Given the description of an element on the screen output the (x, y) to click on. 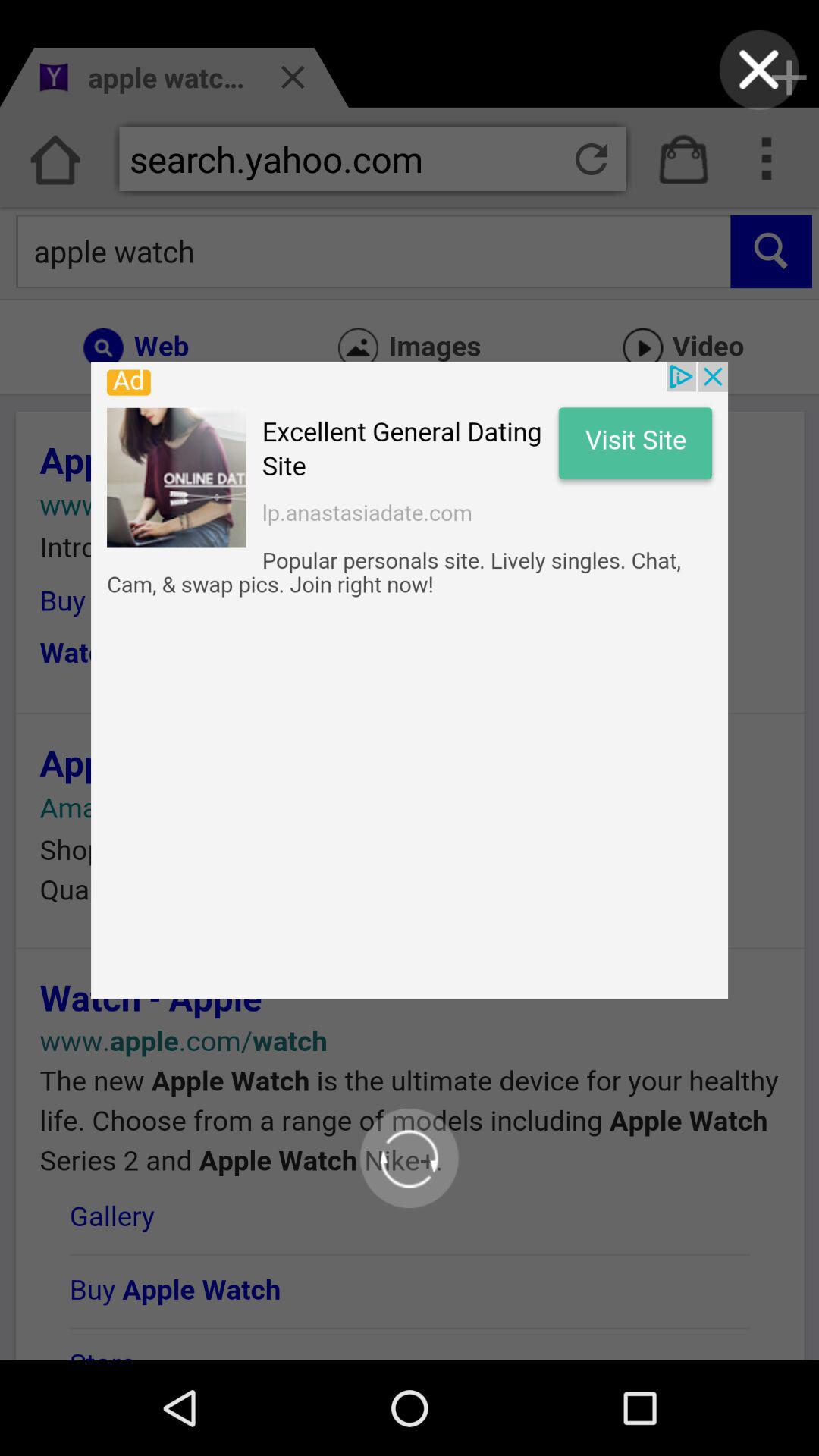
close the option (759, 69)
